Given the description of an element on the screen output the (x, y) to click on. 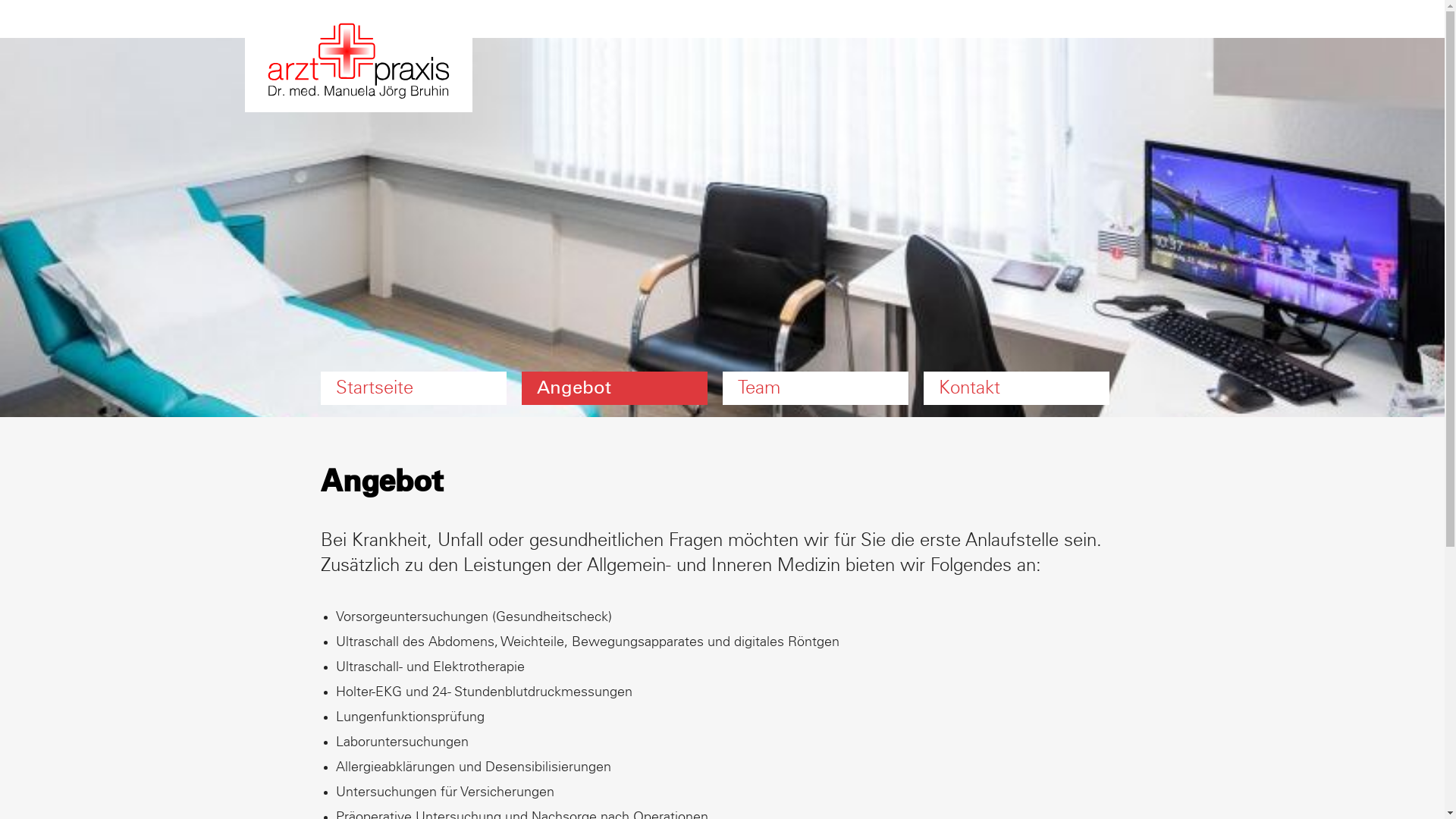
Startseite Element type: text (412, 387)
Team Element type: text (814, 387)
  Element type: text (1123, 363)
Kontakt Element type: text (1016, 387)
